Given the description of an element on the screen output the (x, y) to click on. 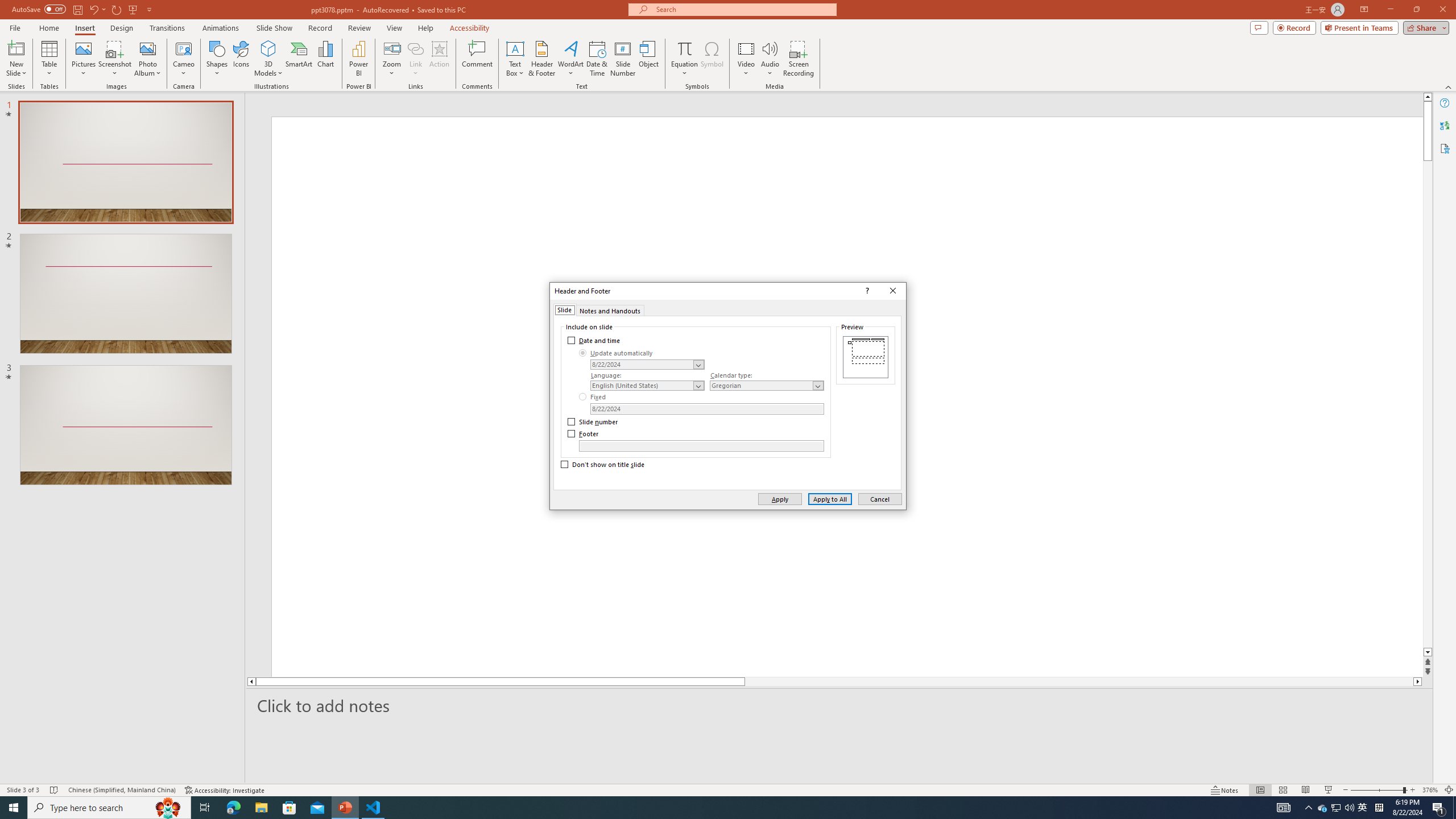
Calendar type (767, 385)
Format Date and Time (646, 364)
An abstract genetic concept (363, 526)
